Given the description of an element on the screen output the (x, y) to click on. 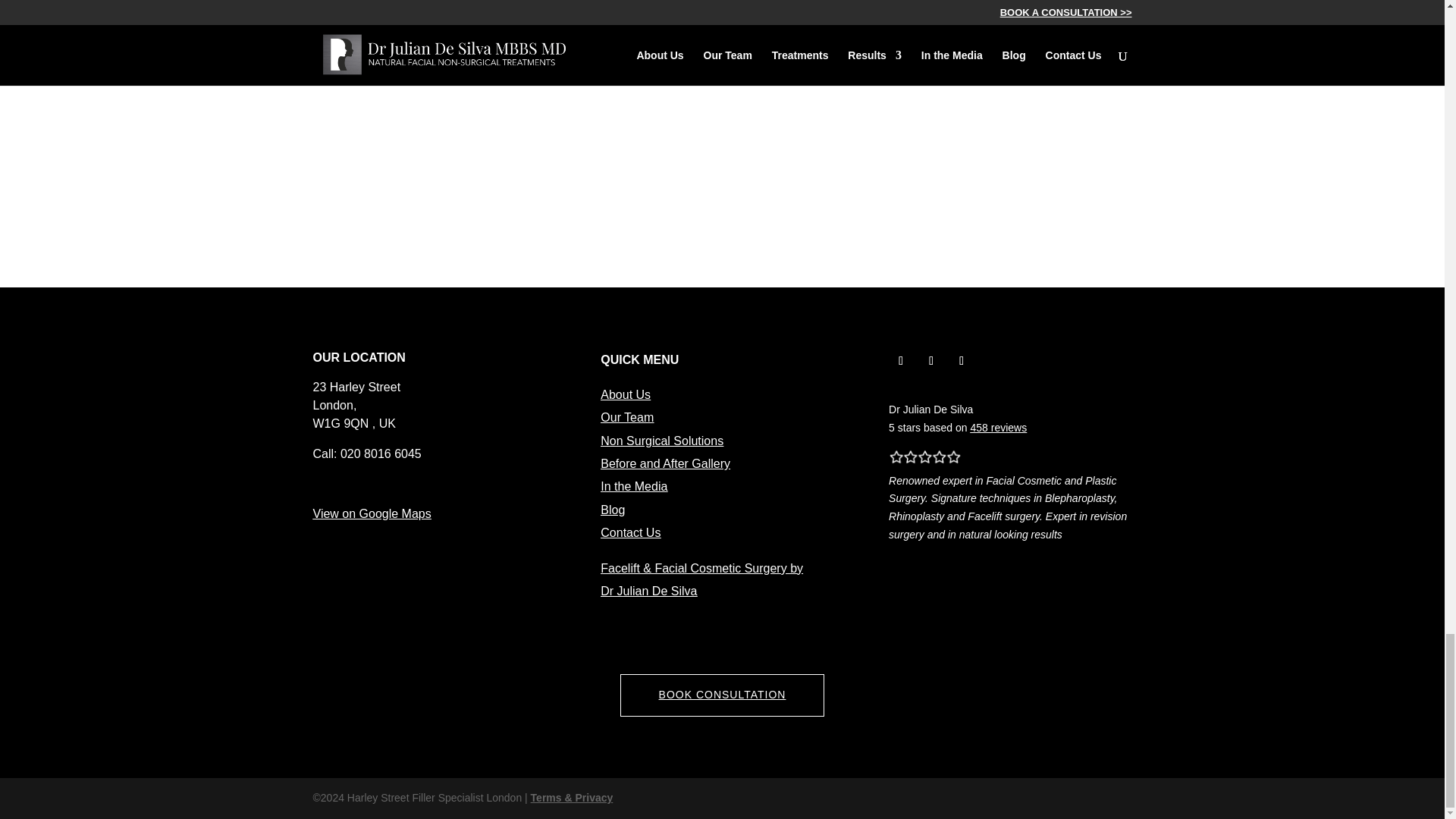
Follow on Instagram (900, 360)
Follow on Youtube (961, 360)
Follow on Facebook (930, 360)
